Given the description of an element on the screen output the (x, y) to click on. 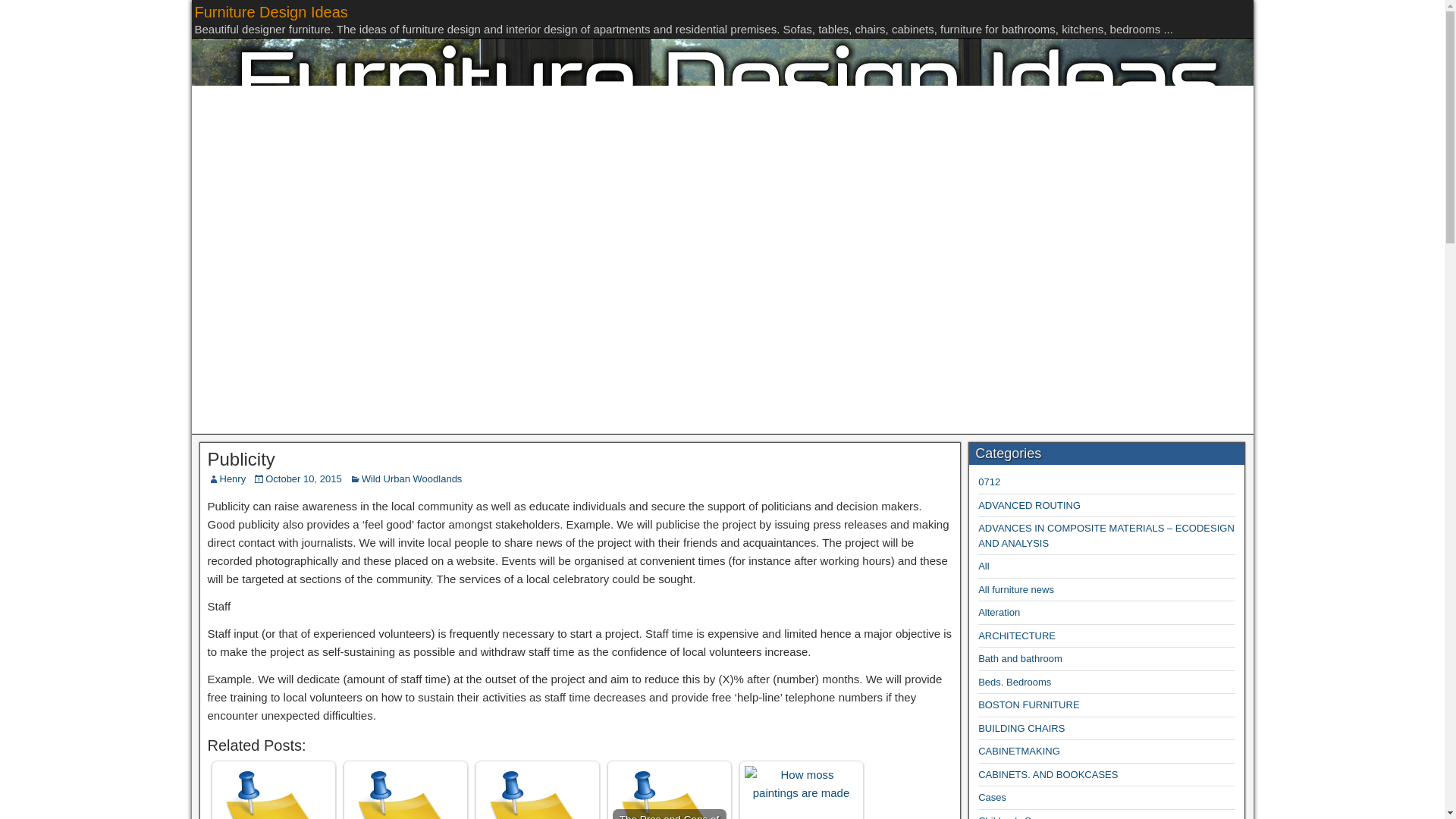
ADVANCED ROUTING (1029, 505)
BUILDING CHAIRS (1021, 727)
Bath and bathroom (1020, 658)
Xbox Gift Cards: How to Use? (273, 792)
The Pros and Cons of Accepting Cryptocurrency as Payment (669, 792)
How moss paintings are made (801, 783)
All (983, 565)
Children's Spaces (1017, 816)
Xbox Gift Cards: How to Use? (273, 792)
